Given the description of an element on the screen output the (x, y) to click on. 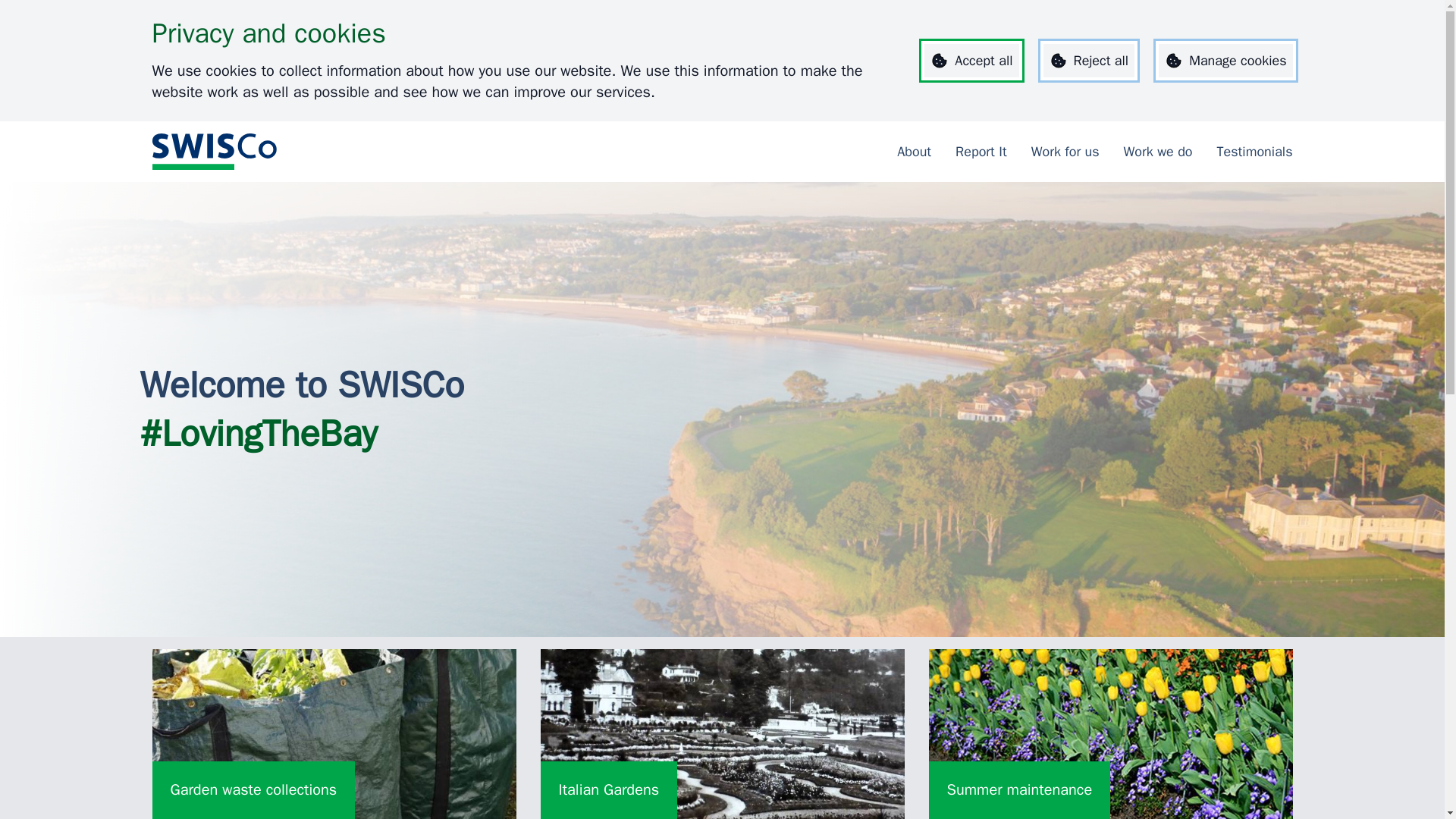
Accept all (970, 60)
About (913, 151)
Reject all (1089, 60)
Work we do (1158, 151)
Manage cookies (1225, 60)
Work for us (1110, 734)
Report It (1064, 151)
